Given the description of an element on the screen output the (x, y) to click on. 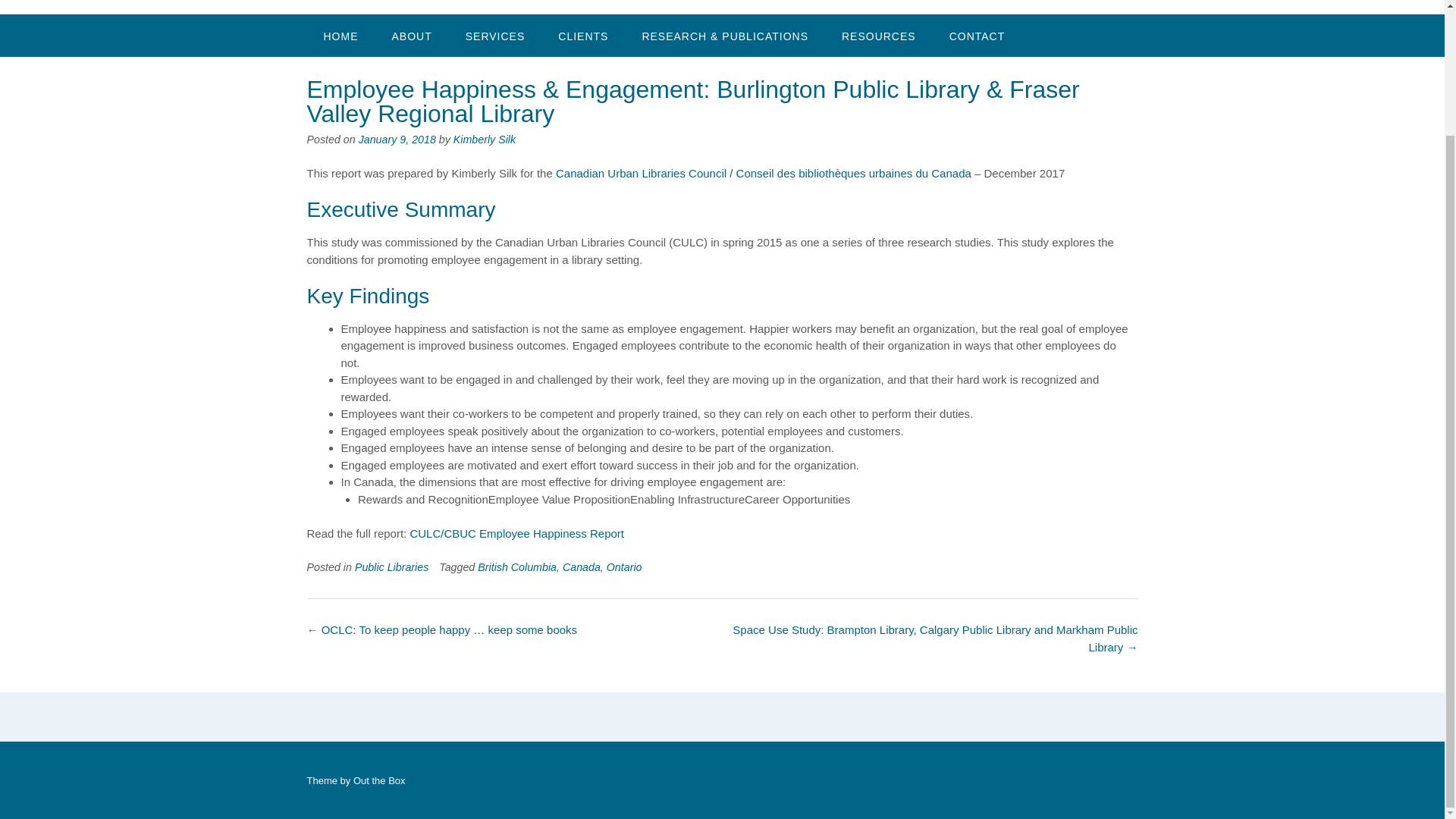
CLIENTS (582, 35)
Ontario (624, 567)
British Columbia (516, 567)
HOME (339, 35)
SERVICES (494, 35)
Out the Box (379, 780)
Kimberly Silk (483, 139)
CONTACT (977, 35)
ABOUT (411, 35)
RESOURCES (879, 35)
